Given the description of an element on the screen output the (x, y) to click on. 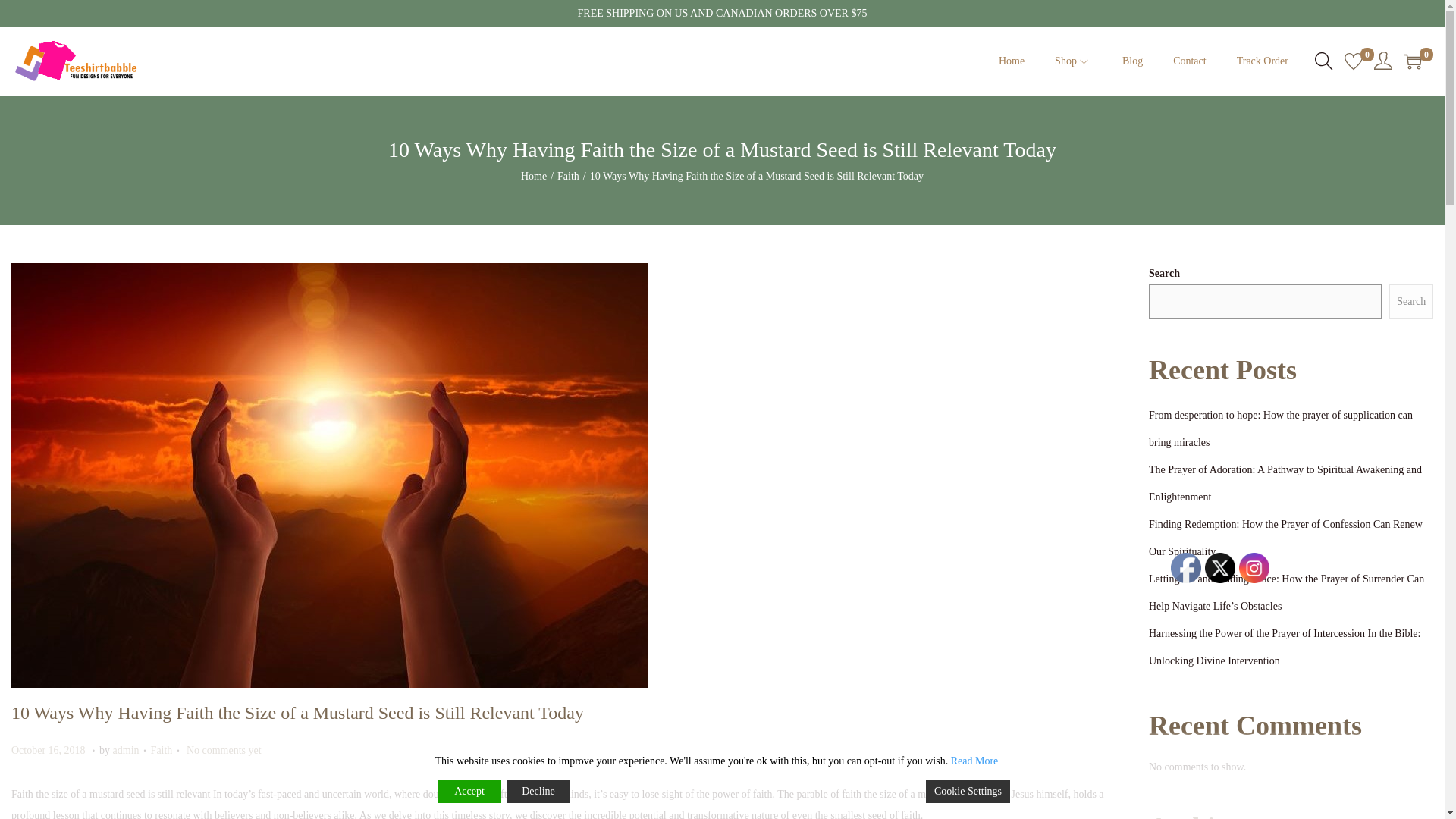
Blog (1132, 61)
Shop (1073, 61)
Instagram (49, 749)
admin (1254, 567)
Skip to navigation (126, 749)
0 (568, 175)
Track Order (1352, 61)
Facebook (1262, 61)
No comments yet (1185, 567)
Contact (224, 749)
0 (1190, 61)
Twitter (1412, 61)
